Given the description of an element on the screen output the (x, y) to click on. 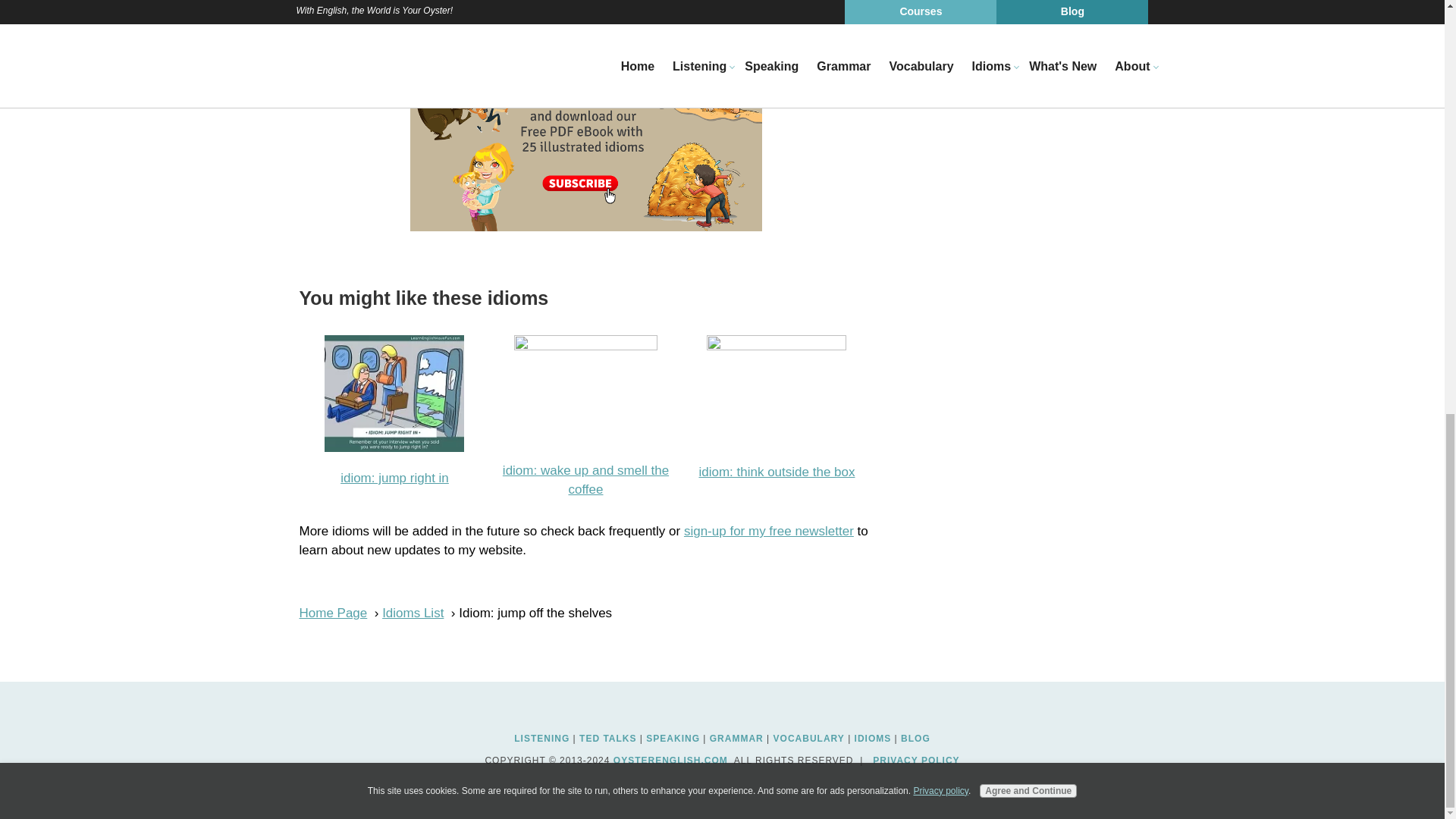
Idioms List (412, 612)
sign-up for my free newsletter (768, 531)
LISTENING (541, 738)
Go to Idiom: Wake up and smell the coffee (585, 345)
idiom: think outside the box (776, 472)
IDIOMS (872, 738)
Go to Signup and receive a free idioms ebook (585, 227)
GRAMMAR (736, 738)
idiom: jump right in (394, 477)
idiom: wake up and smell the coffee (585, 479)
Home Page (332, 612)
SPEAKING (673, 738)
OYSTERENGLISH.COM (670, 760)
VOCABULARY (808, 738)
PRIVACY POLICY (915, 760)
